Given the description of an element on the screen output the (x, y) to click on. 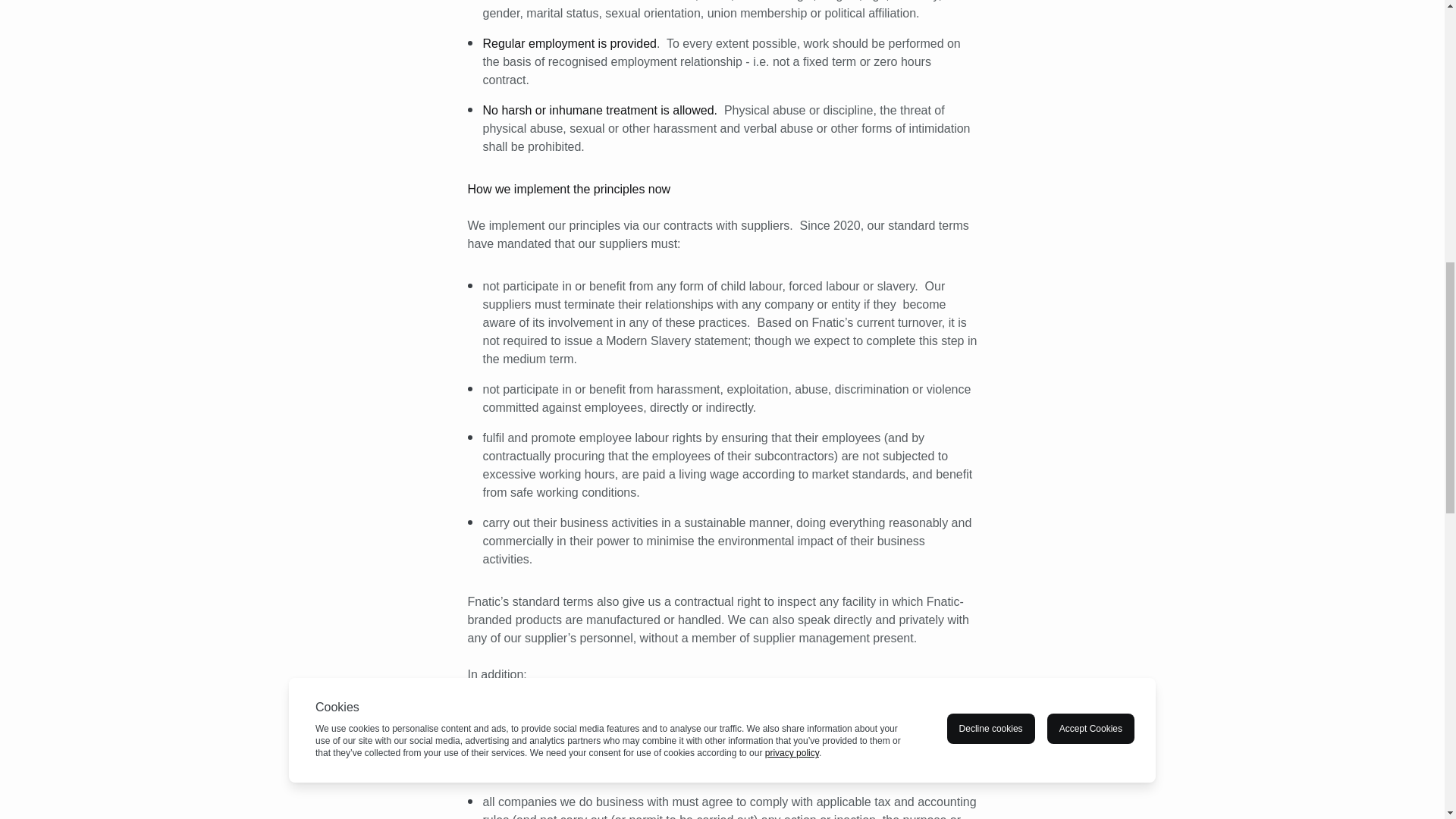
diversity and inclusivity policy (733, 716)
